Given the description of an element on the screen output the (x, y) to click on. 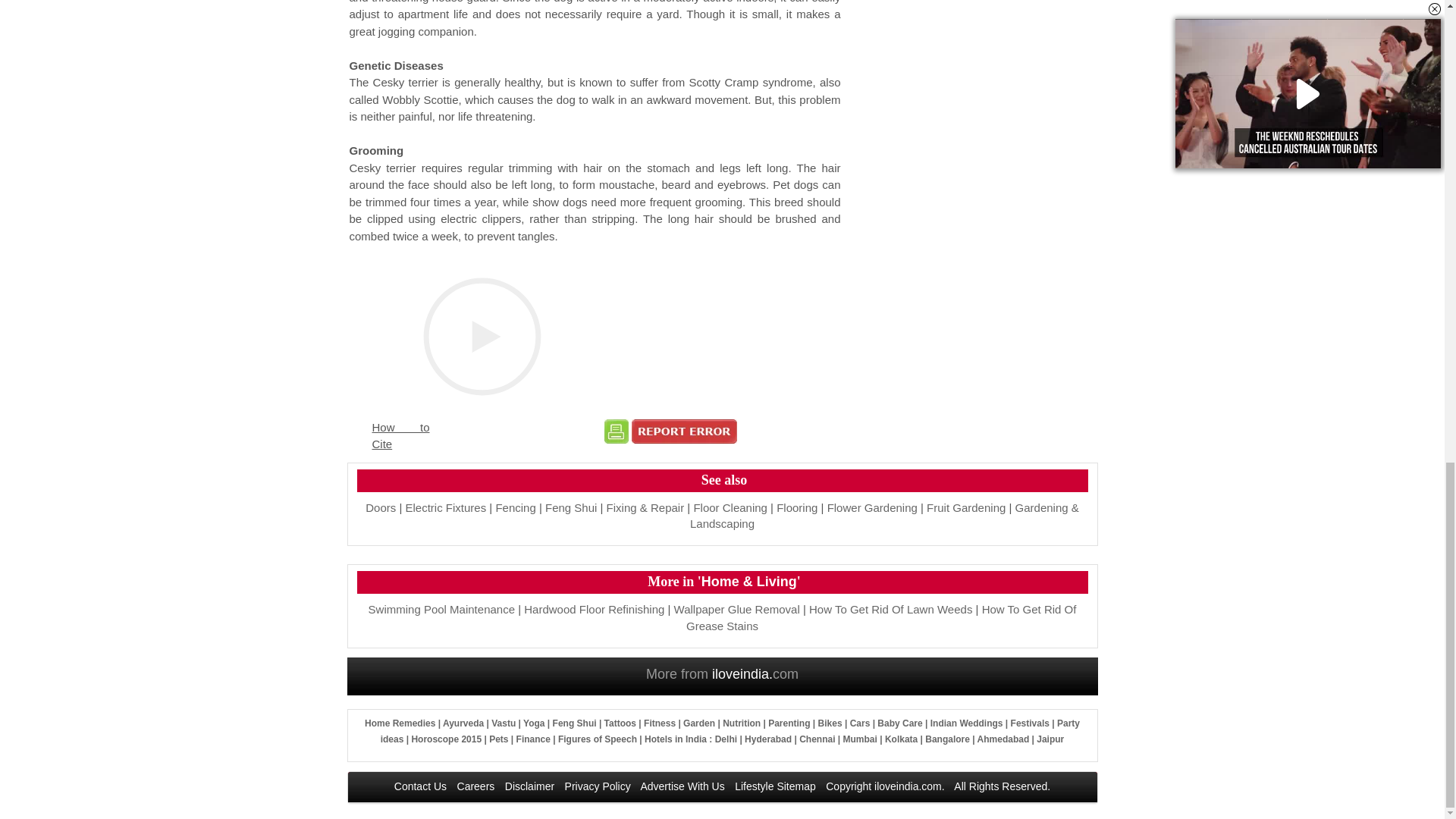
Doors (380, 507)
Fencing (515, 507)
Flower Gardening (872, 507)
Floor Cleaning (730, 507)
Flooring (796, 507)
Feng Shui (570, 507)
Advertisement (973, 19)
Electric Fixtures (445, 507)
